Given the description of an element on the screen output the (x, y) to click on. 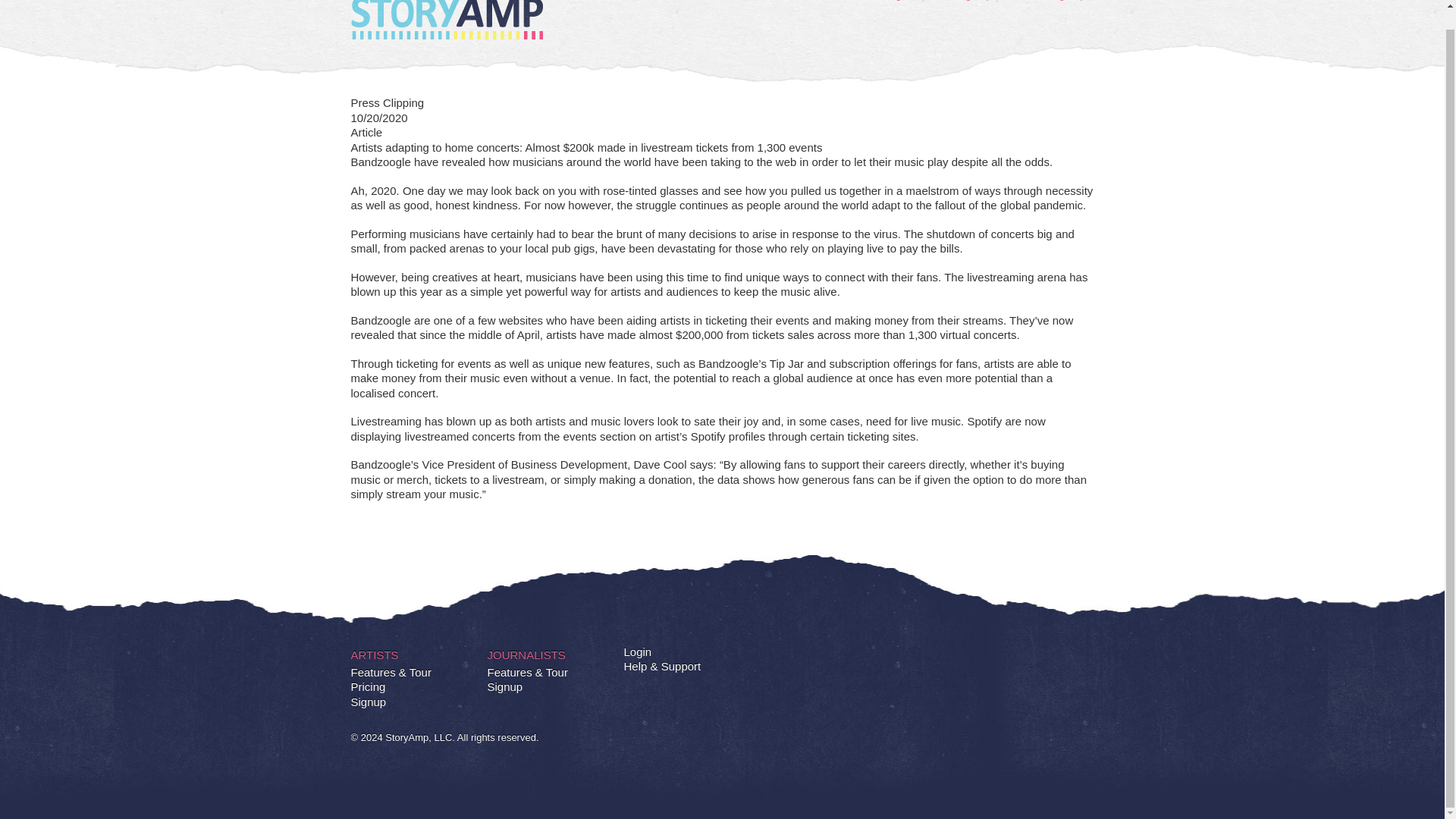
Pricing (367, 686)
Login (636, 651)
ARTISTS (373, 653)
Signup (504, 686)
Signup (367, 701)
Artist Sign Up (961, 1)
Journalist Sign Up (1045, 1)
JOURNALISTS (525, 653)
Sign In (902, 1)
